Given the description of an element on the screen output the (x, y) to click on. 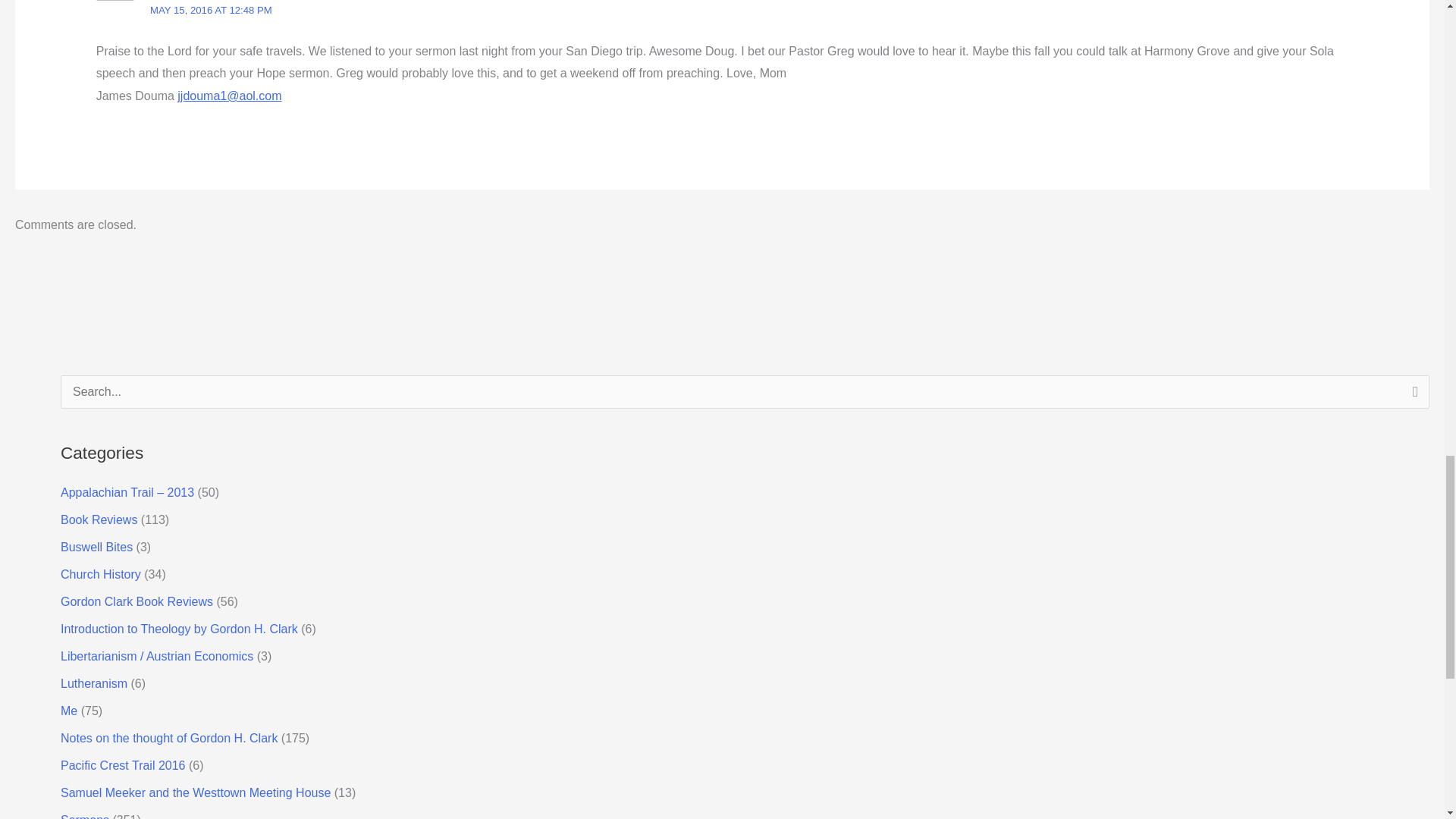
MAY 15, 2016 AT 12:48 PM (210, 9)
Buswell Bites (96, 546)
Gordon Clark Book Reviews (136, 601)
Book Reviews (98, 519)
Notes on the thought of Gordon H. Clark (169, 738)
Church History (101, 574)
Pacific Crest Trail 2016 (123, 765)
Introduction to Theology by Gordon H. Clark (179, 628)
Me (69, 710)
Lutheranism (94, 683)
